Given the description of an element on the screen output the (x, y) to click on. 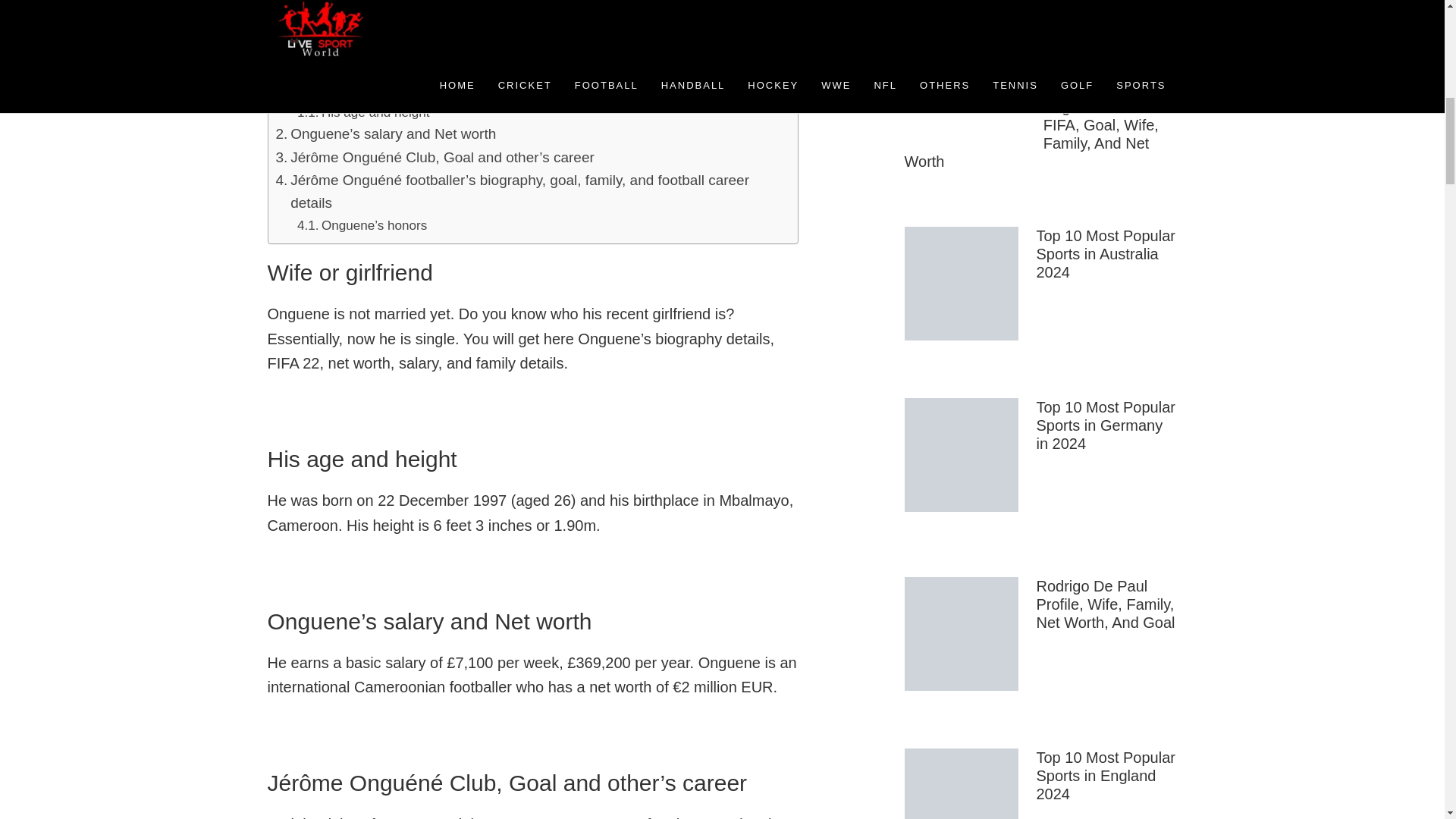
His age and height (363, 112)
Wife or girlfriend (336, 89)
